Given the description of an element on the screen output the (x, y) to click on. 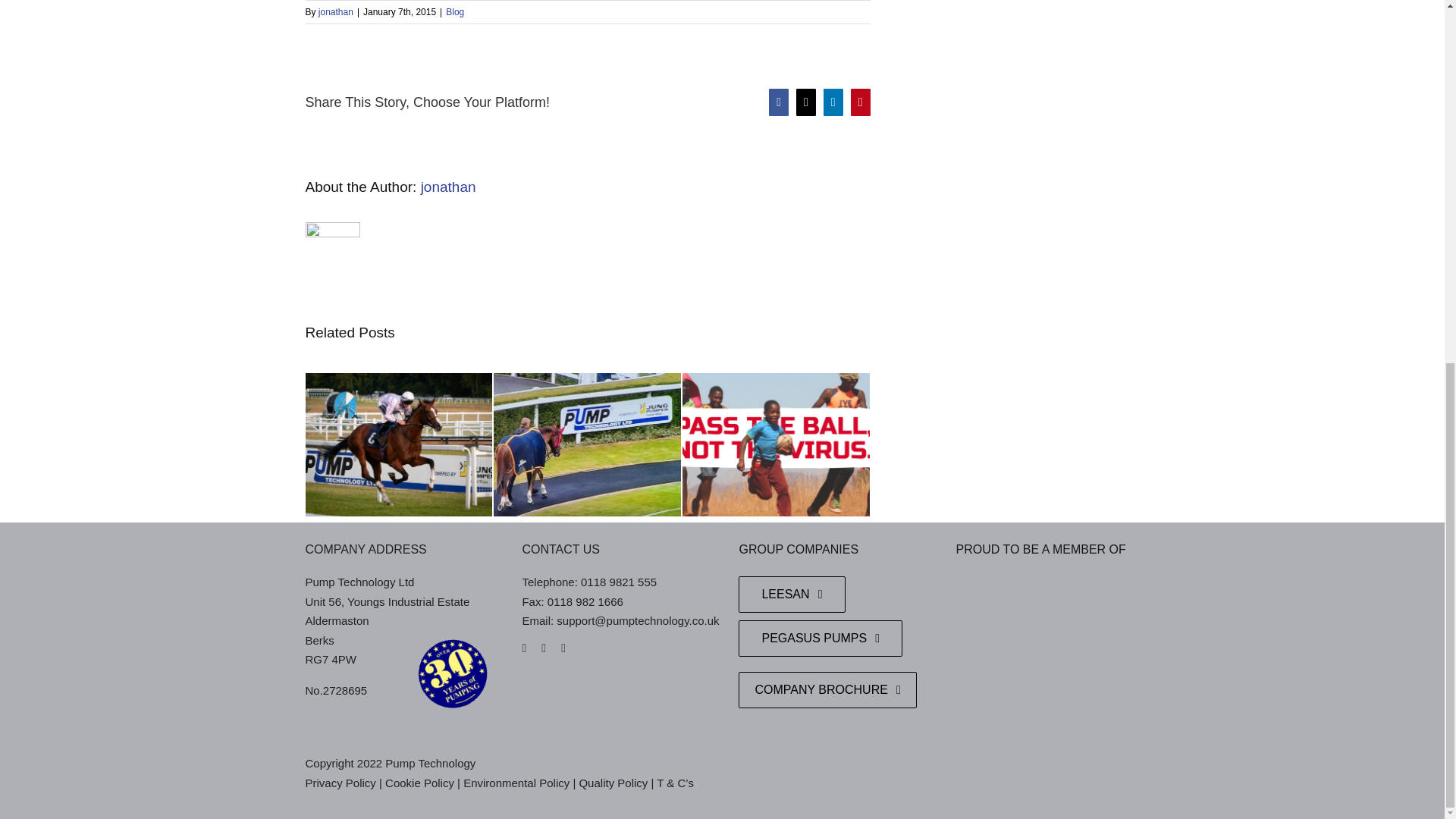
Posts by jonathan (335, 11)
Posts by jonathan (448, 186)
Company Brochure (826, 689)
Leesan (791, 594)
Pegasus Pumps (820, 637)
